Given the description of an element on the screen output the (x, y) to click on. 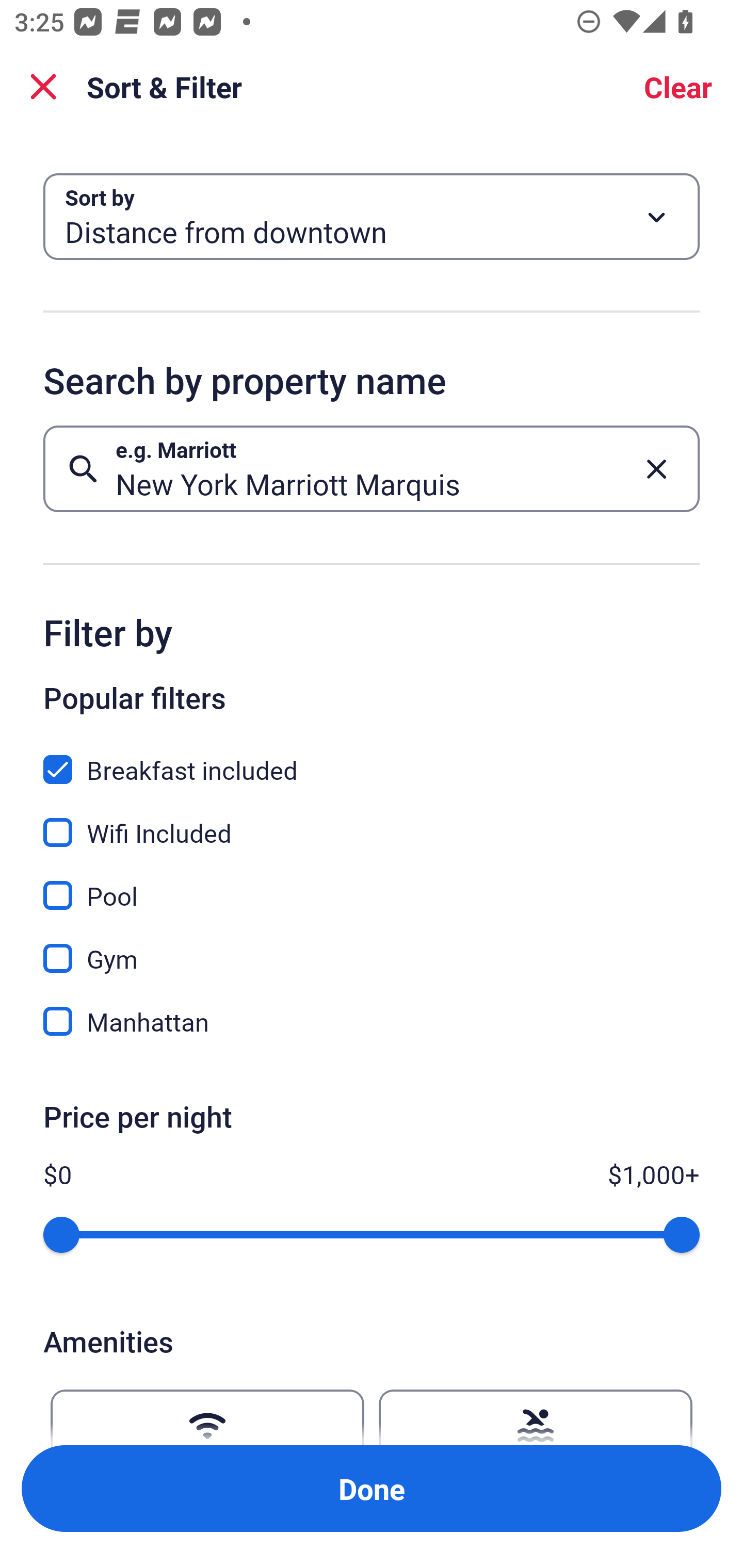
Close Sort and Filter (43, 86)
Clear (677, 86)
Sort by Button Distance from downtown (371, 217)
e.g. Marriott Button New York Marriott Marquis (371, 468)
Breakfast included, Breakfast included (371, 757)
Wifi Included, Wifi Included (371, 821)
Pool, Pool (371, 883)
Gym, Gym (371, 946)
Manhattan, Manhattan (371, 1021)
Apply and close Sort and Filter Done (371, 1488)
